Given the description of an element on the screen output the (x, y) to click on. 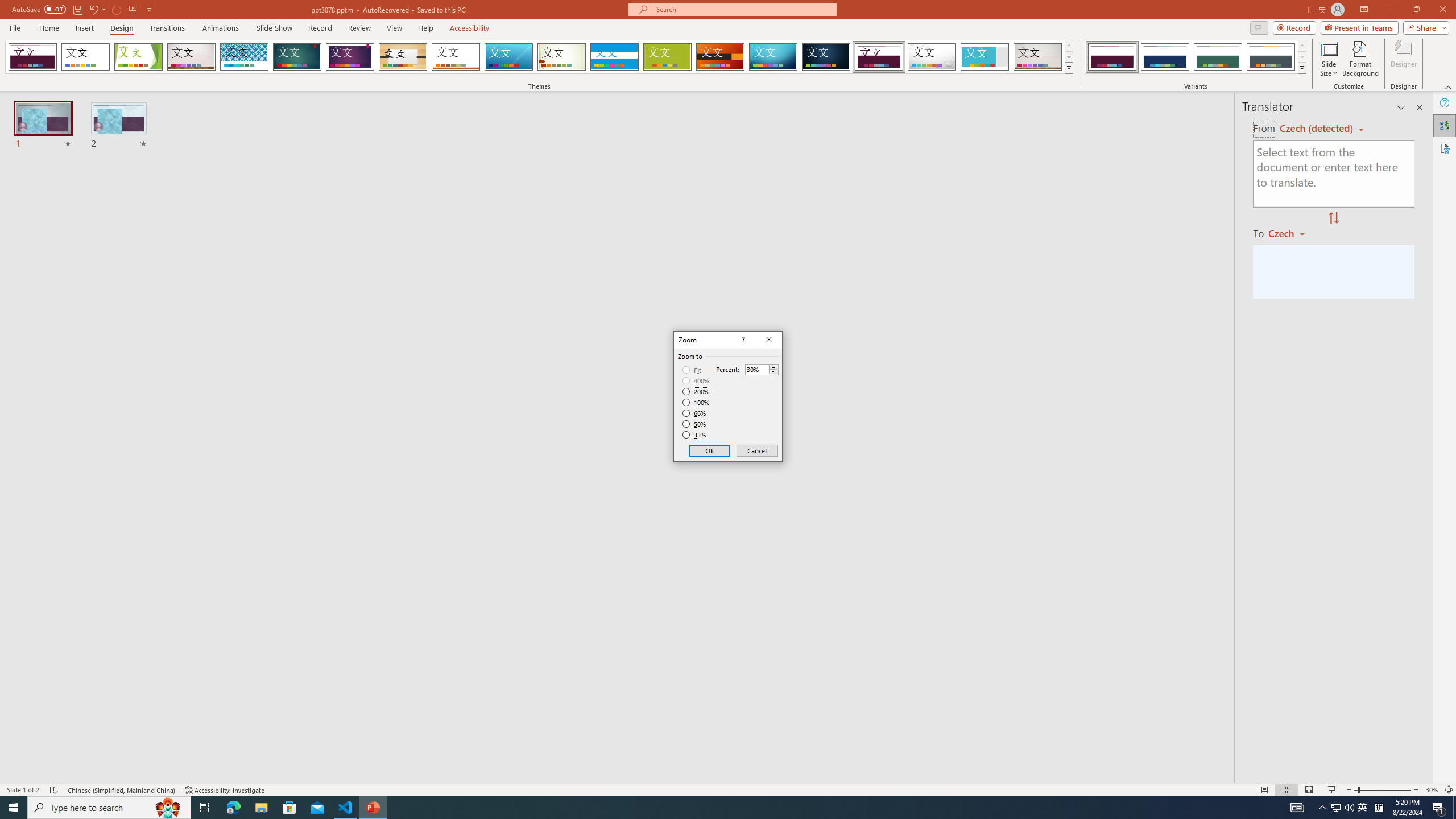
Damask (826, 56)
Facet (138, 56)
